Given the description of an element on the screen output the (x, y) to click on. 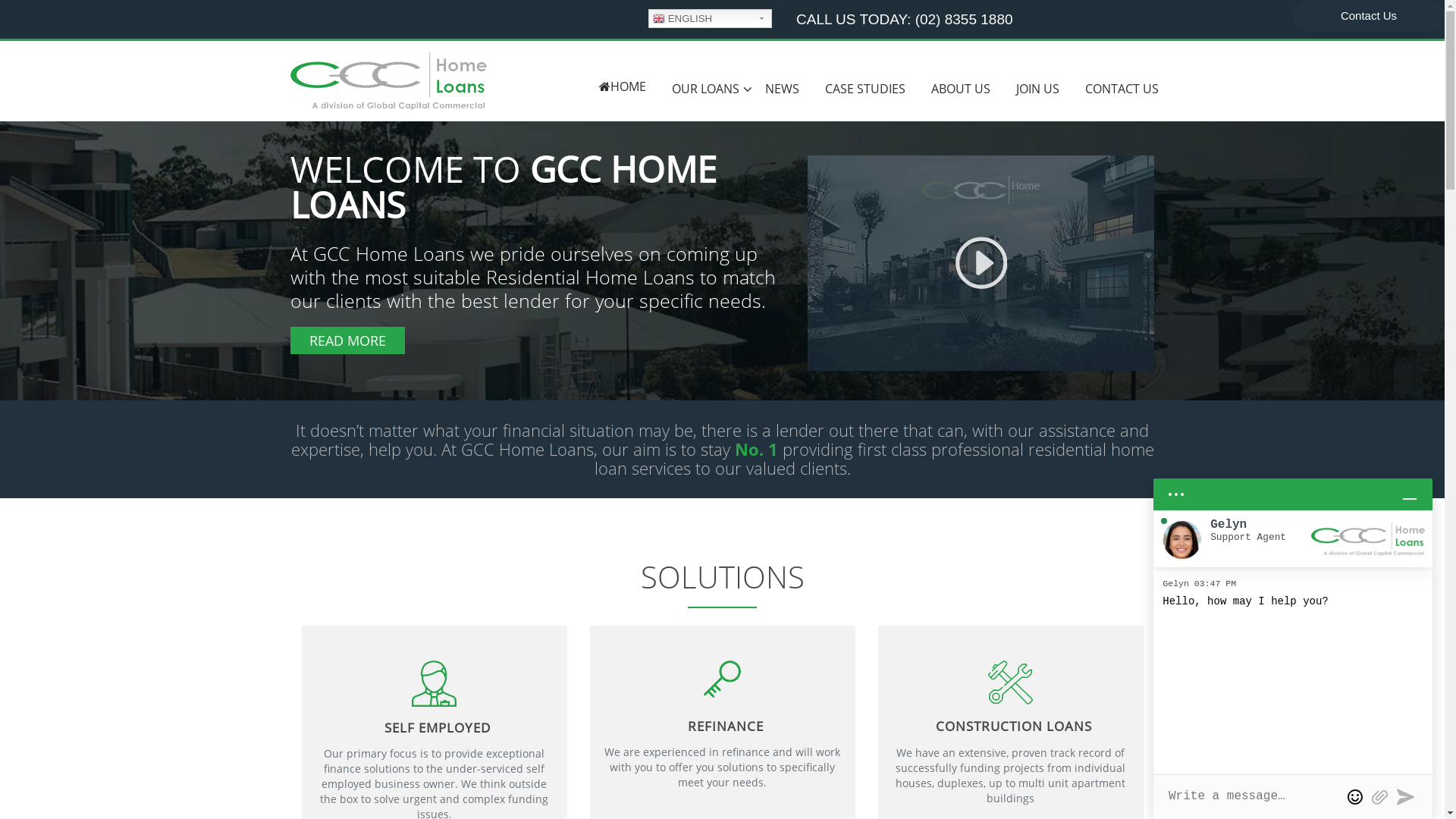
NEWS Element type: text (782, 88)
ENGLISH Element type: text (709, 18)
HOME Element type: text (621, 86)
READ MORE Element type: text (346, 340)
JOIN US Element type: text (1036, 88)
GCC Home Loans Element type: hover (387, 79)
OUR LOANS Element type: text (704, 88)
CONTACT US Element type: text (1121, 88)
ABOUT US Element type: text (959, 88)
CASE STUDIES Element type: text (864, 88)
(02) 8355 1880 Element type: text (964, 19)
